Given the description of an element on the screen output the (x, y) to click on. 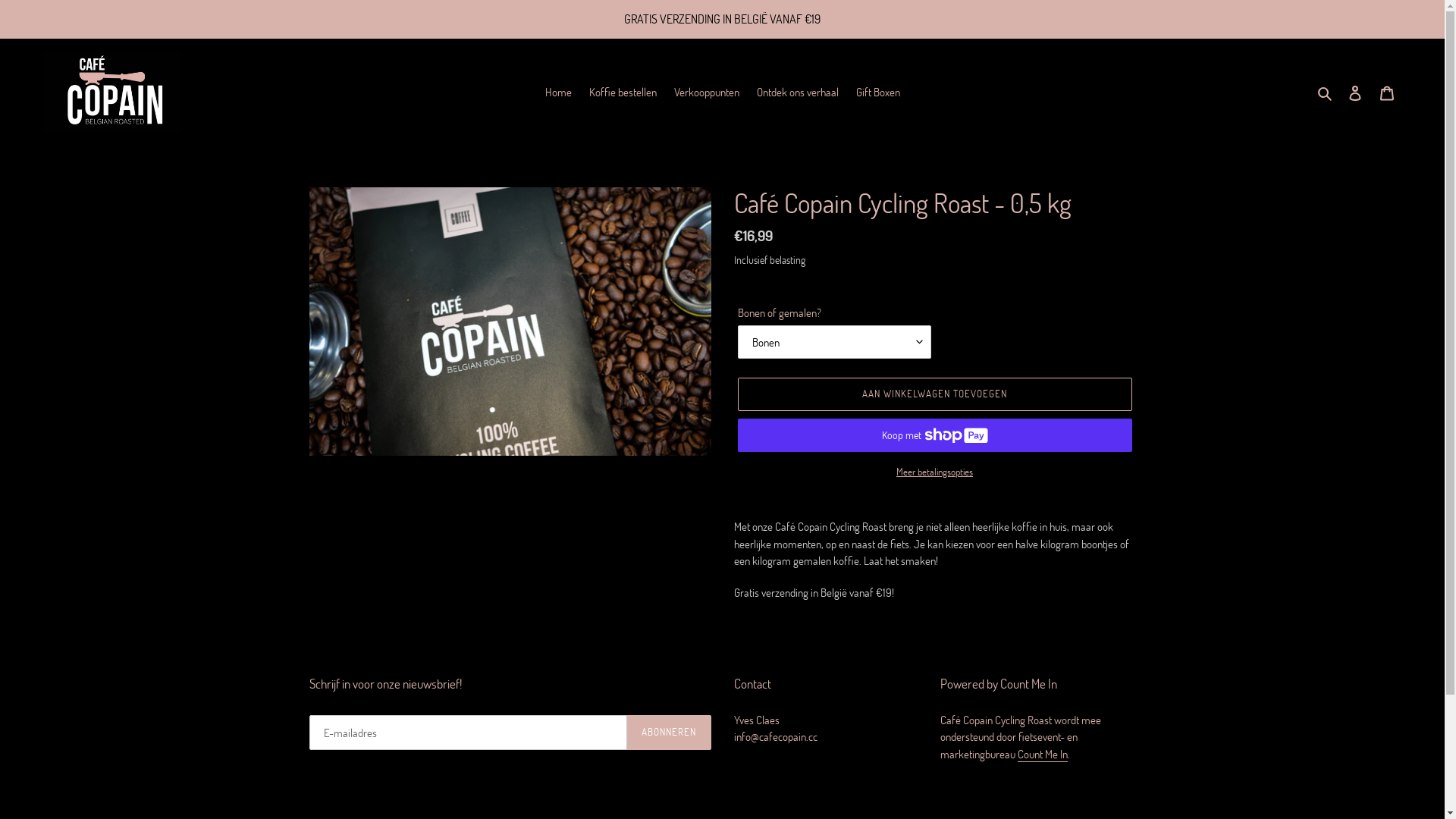
Verkooppunten Element type: text (705, 92)
Winkelwagen Element type: text (1386, 91)
Gift Boxen Element type: text (876, 92)
AAN WINKELWAGEN TOEVOEGEN Element type: text (934, 394)
Koffie bestellen Element type: text (621, 92)
Home Element type: text (557, 92)
Aanmelden Element type: text (1355, 91)
Count Me In Element type: text (1042, 754)
Ontdek ons verhaal Element type: text (797, 92)
Zoeken Element type: text (1325, 91)
ABONNEREN Element type: text (668, 732)
Meer betalingsopties Element type: text (934, 472)
